Given the description of an element on the screen output the (x, y) to click on. 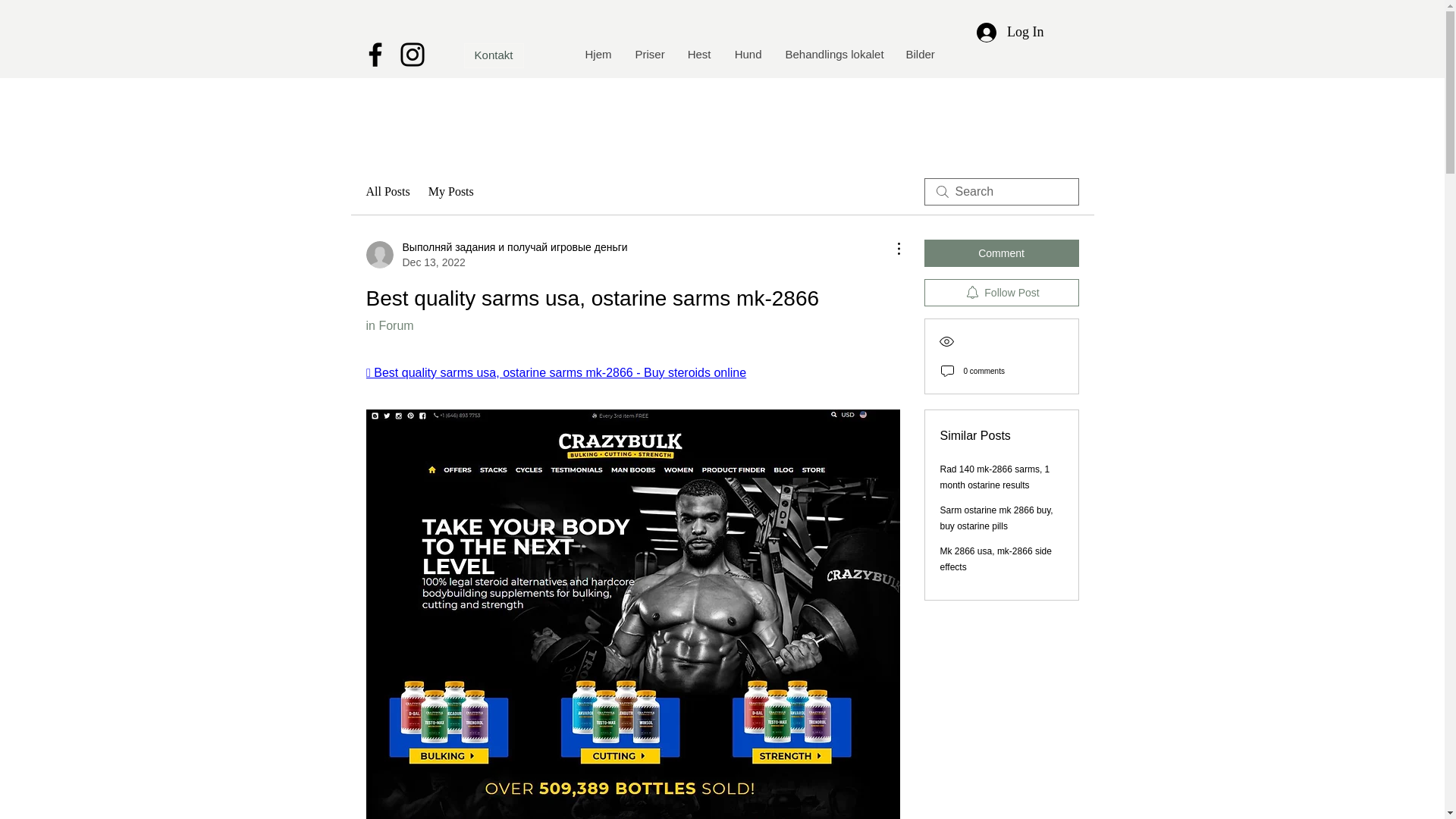
Log In (1010, 32)
Hest (698, 54)
Hund (747, 54)
in Forum (389, 325)
Kontakt (494, 55)
Priser (649, 54)
Behandlings lokalet (833, 54)
My Posts (451, 191)
Comment (1000, 252)
Hjem (598, 54)
All Posts (387, 191)
Bilder (918, 54)
